Given the description of an element on the screen output the (x, y) to click on. 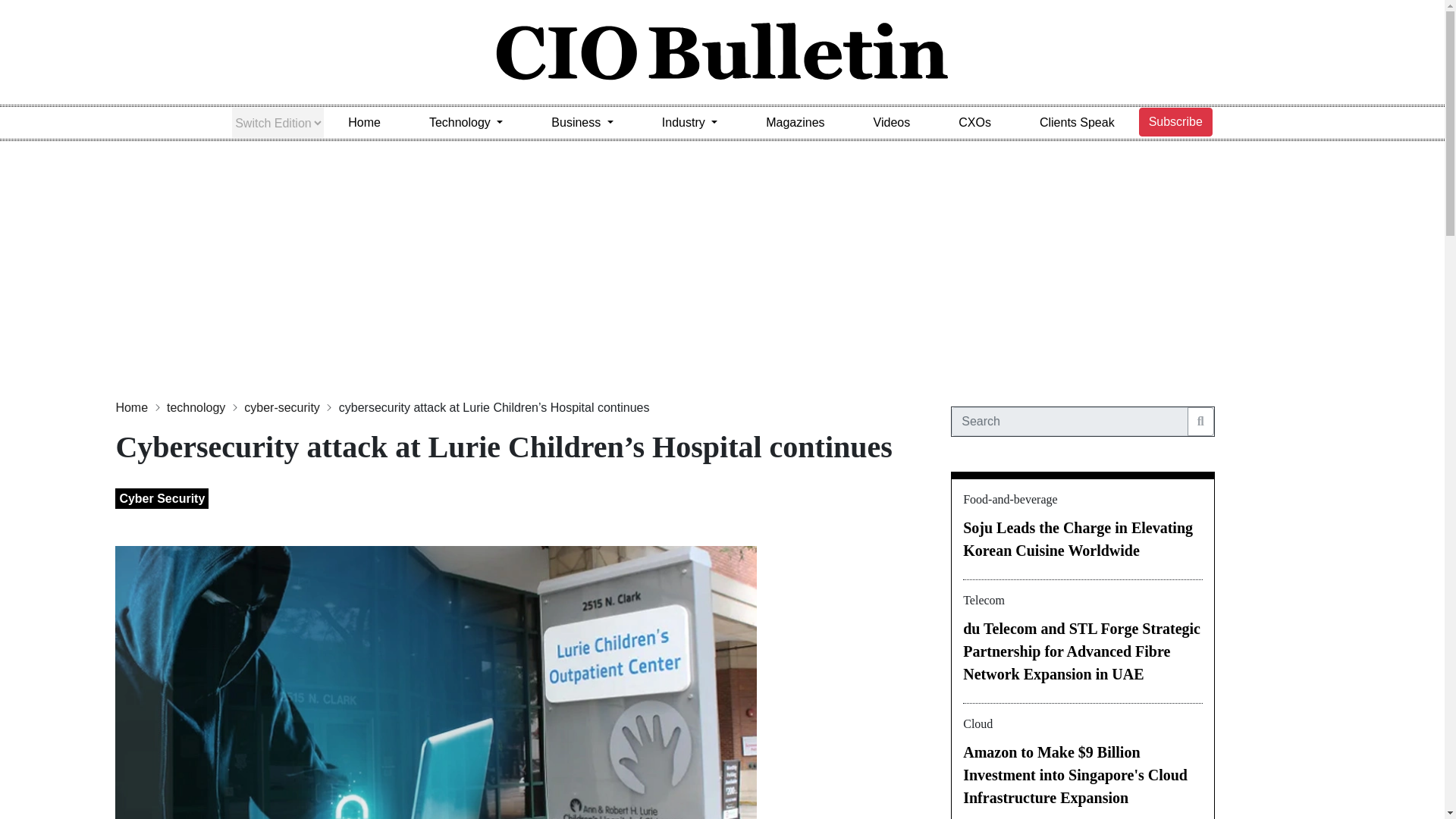
Technology (465, 122)
Business (582, 122)
Industry (689, 122)
Home (363, 122)
